Given the description of an element on the screen output the (x, y) to click on. 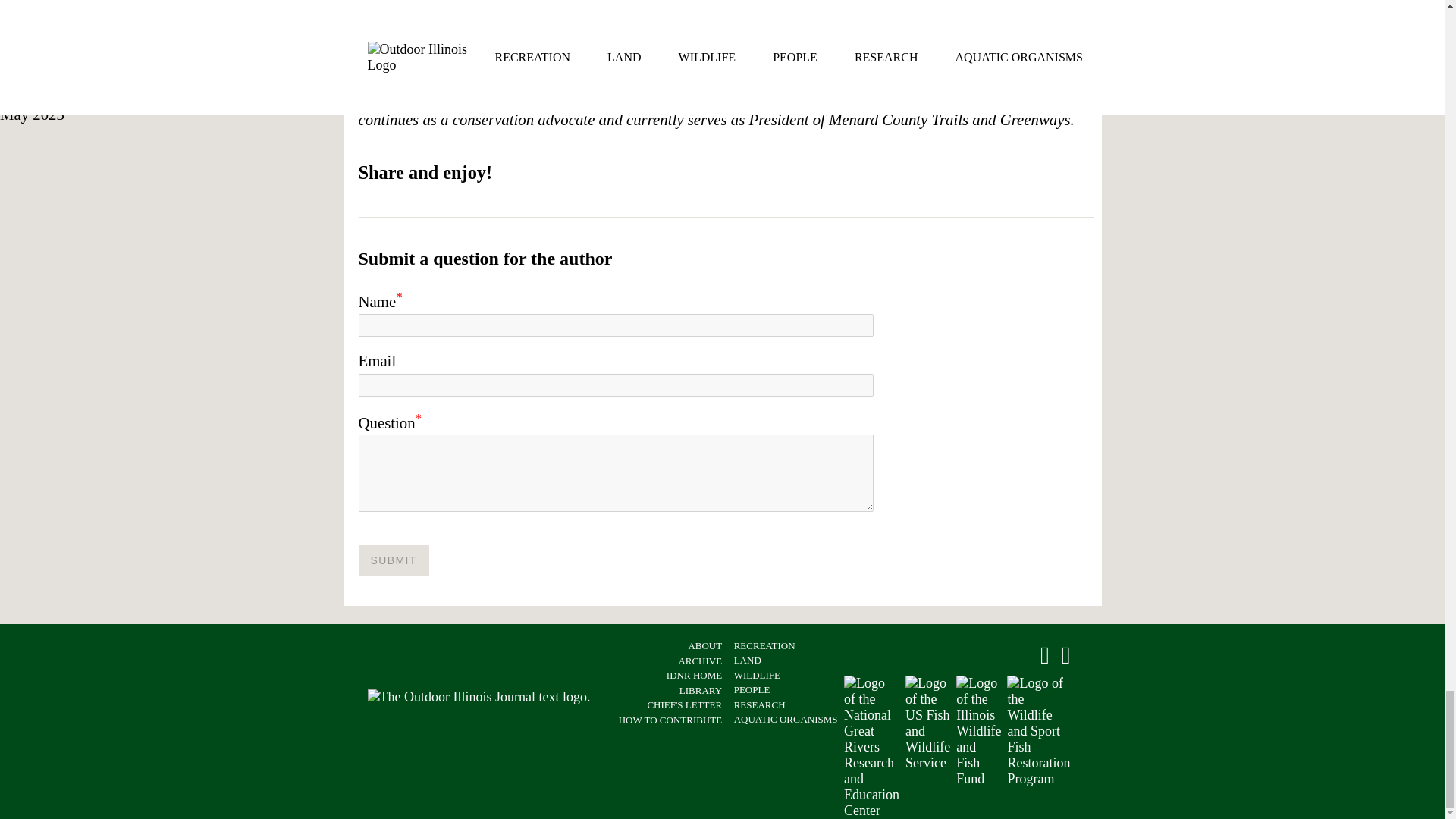
IDNR HOME (694, 674)
ABOUT (704, 645)
HOW TO CONTRIBUTE (670, 719)
PEOPLE (751, 689)
ARCHIVE (700, 660)
WILDLIFE (756, 674)
LIBRARY (700, 690)
RECREATION (763, 645)
SUBMIT (393, 560)
RESEARCH (759, 704)
